Given the description of an element on the screen output the (x, y) to click on. 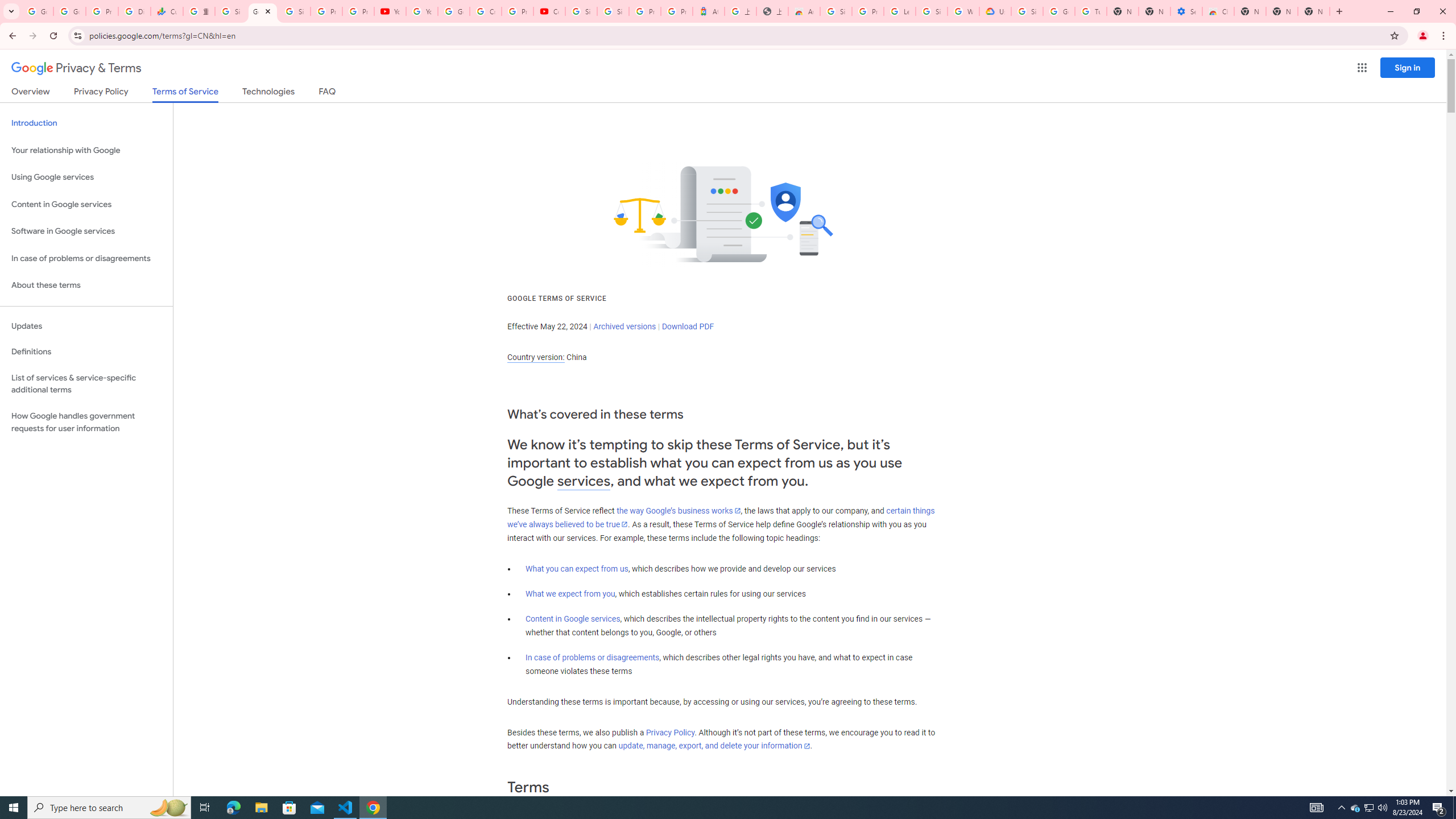
YouTube (389, 11)
Your relationship with Google (86, 150)
Who are Google's partners? - Privacy and conditions - Google (963, 11)
Sign in - Google Accounts (581, 11)
Technologies (268, 93)
FAQ (327, 93)
Awesome Screen Recorder & Screenshot - Chrome Web Store (804, 11)
Currencies - Google Finance (166, 11)
Introduction (86, 122)
